Given the description of an element on the screen output the (x, y) to click on. 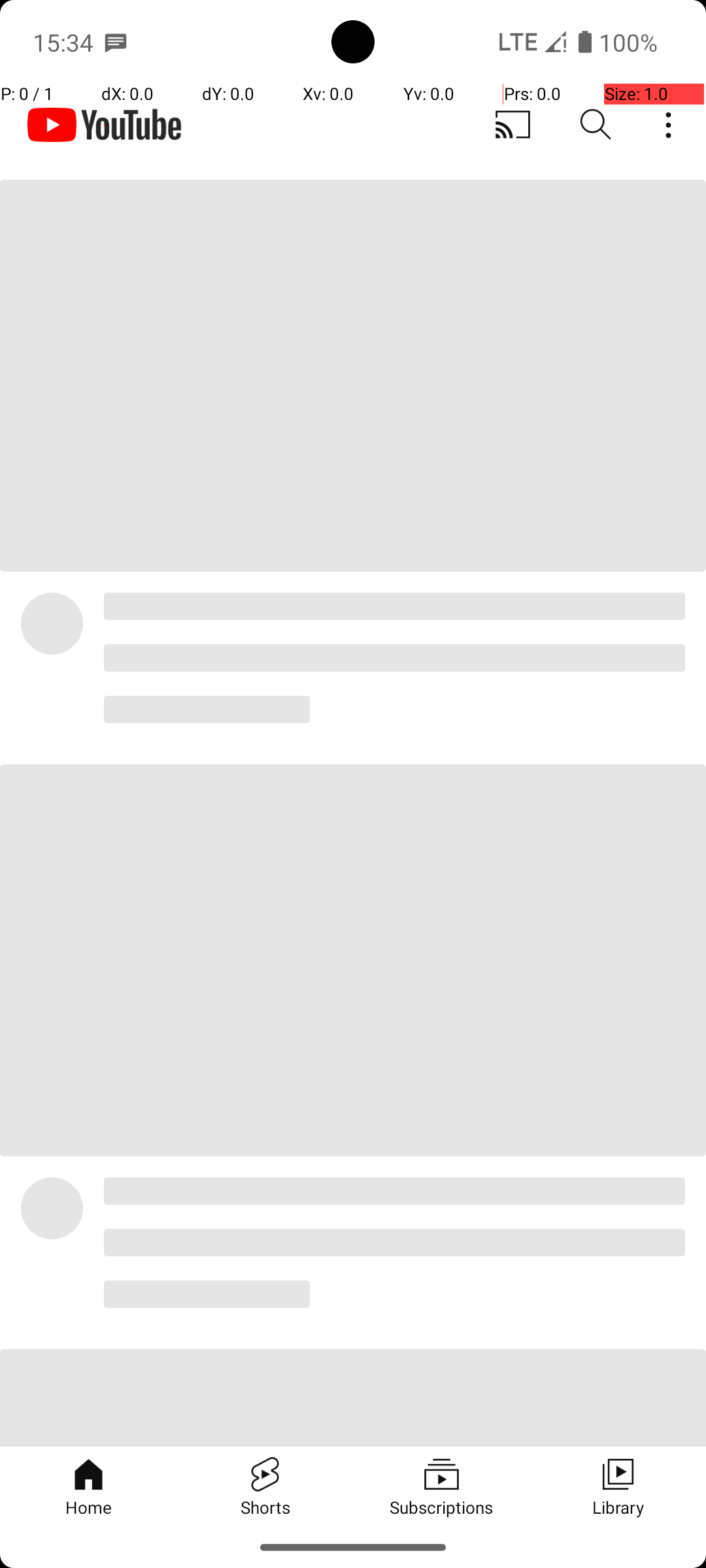
Cast. Disconnected Element type: android.view.View (512, 124)
Shorts Element type: android.widget.Button (264, 1485)
Library Element type: android.widget.Button (617, 1485)
SMS Messenger notification: +15505050843 Element type: android.widget.ImageView (115, 41)
